Given the description of an element on the screen output the (x, y) to click on. 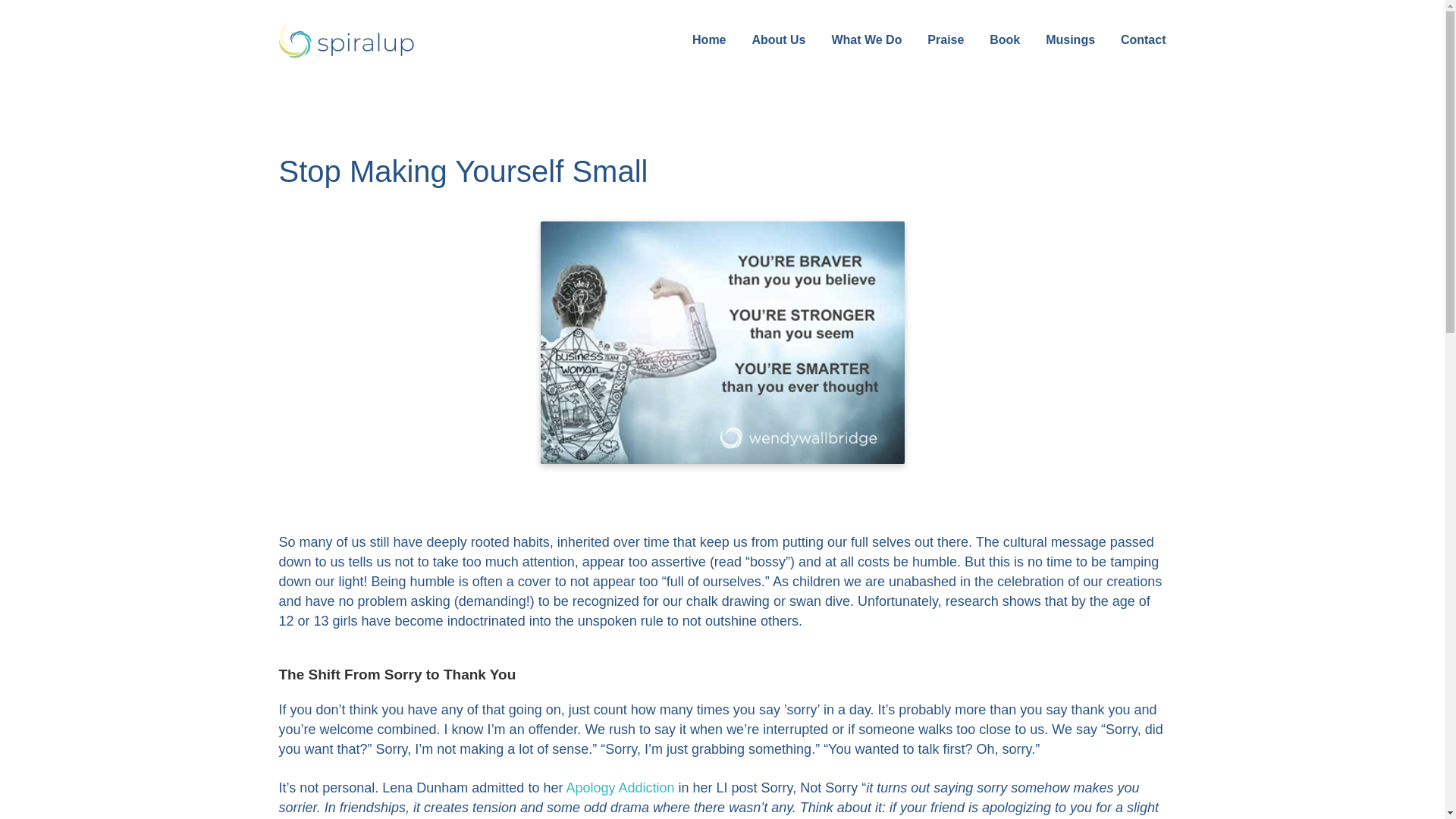
Homepage (381, 40)
Musings (1070, 39)
Home (708, 39)
Book (1004, 39)
Apology Addiction (620, 787)
Contact (1141, 39)
Spiral Up (346, 40)
Praise (945, 39)
About Us (778, 39)
What We Do (866, 39)
